Given the description of an element on the screen output the (x, y) to click on. 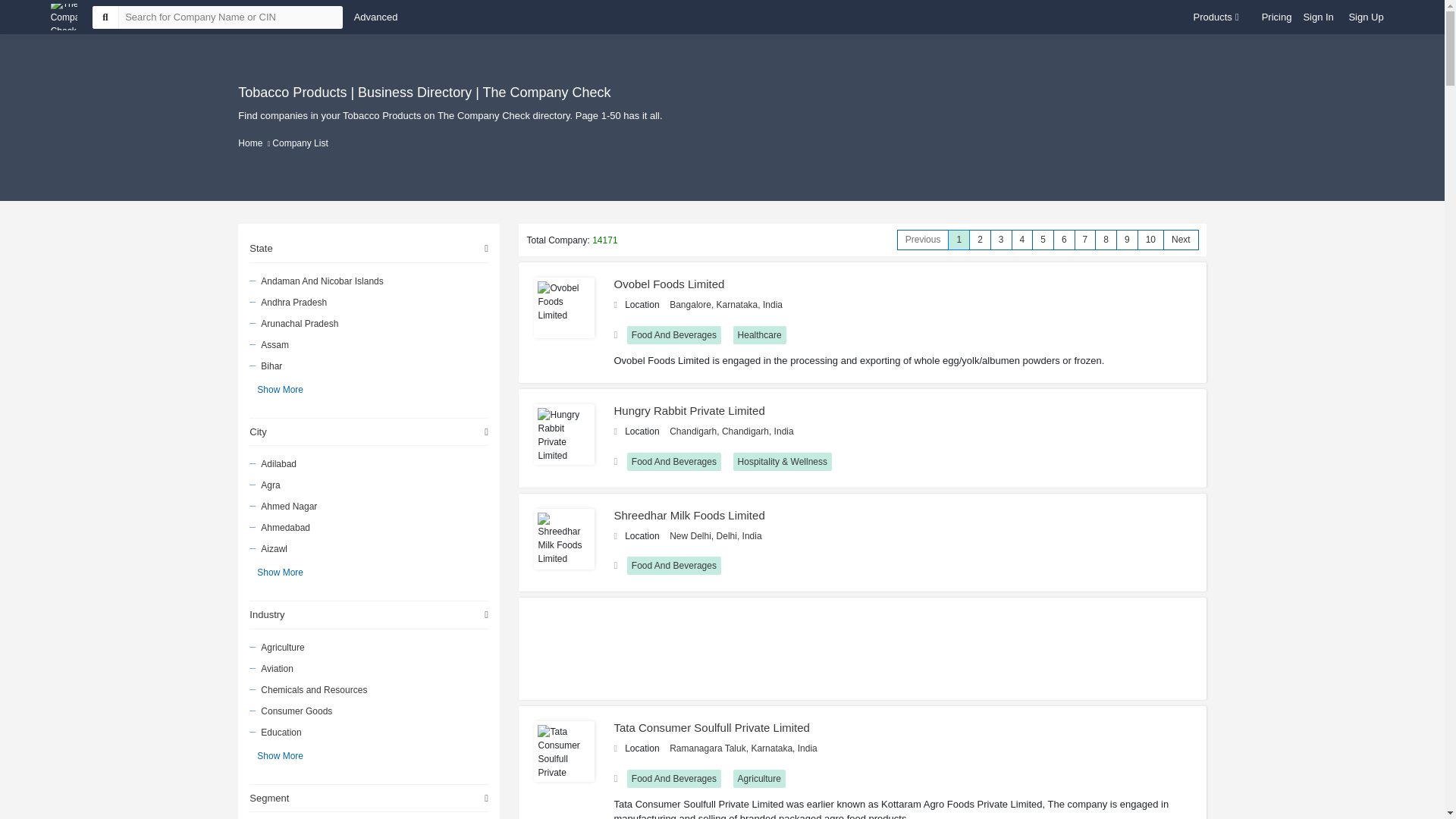
Pricing (1277, 17)
Show More (279, 388)
Andaman And Nicobar Islands (367, 280)
State (367, 248)
Company List (299, 143)
Home (250, 143)
Advanced (375, 17)
Sign In (1318, 16)
Bihar (367, 364)
Assam (367, 343)
